Given the description of an element on the screen output the (x, y) to click on. 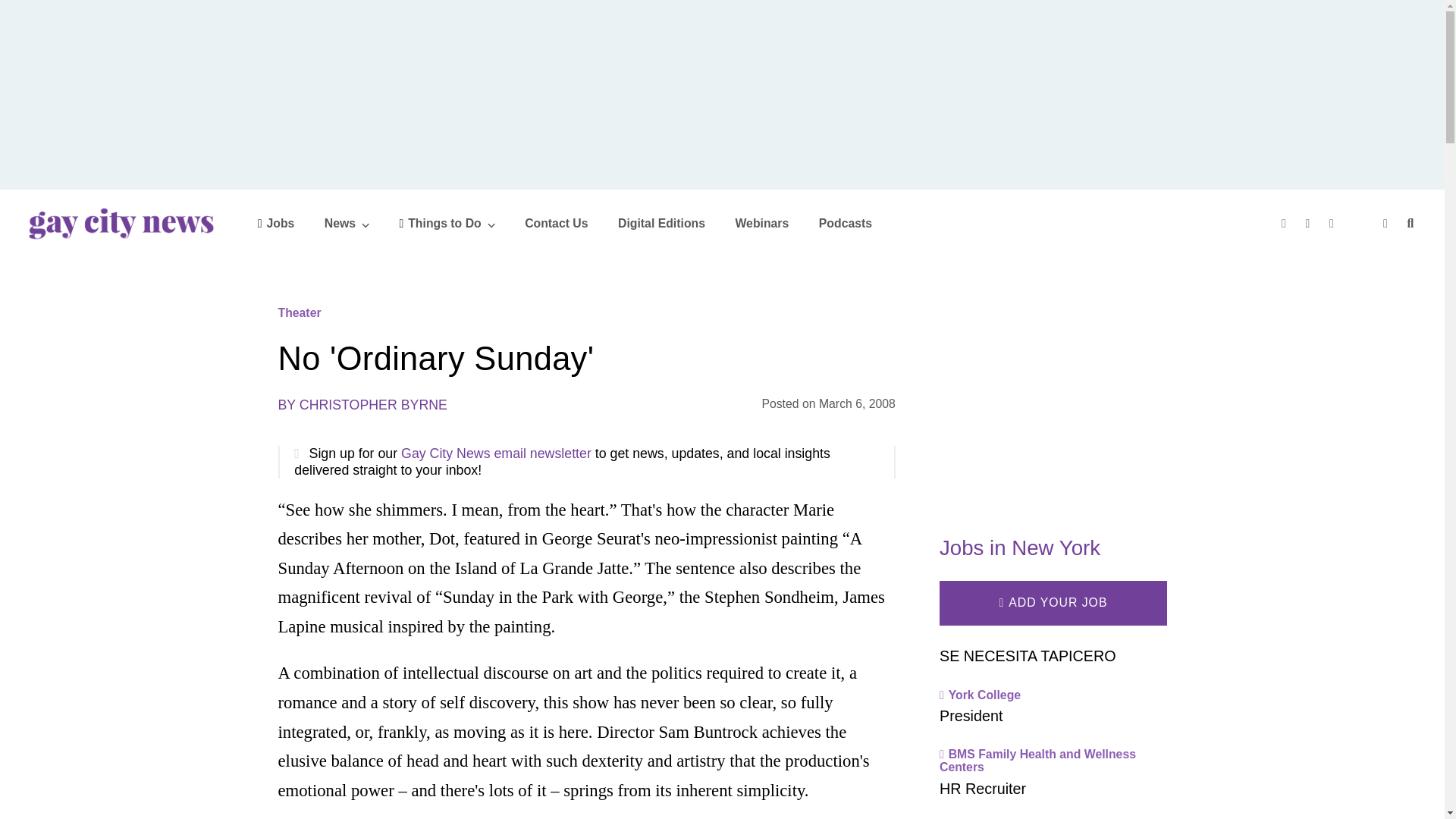
Facebook (1285, 223)
Jobs (276, 223)
News (346, 223)
Digital Editions (660, 223)
Twitter (1310, 223)
Webinars (762, 223)
Instagram (1333, 223)
Podcasts (845, 223)
Things to Do (446, 223)
Contact Us (556, 223)
